Given the description of an element on the screen output the (x, y) to click on. 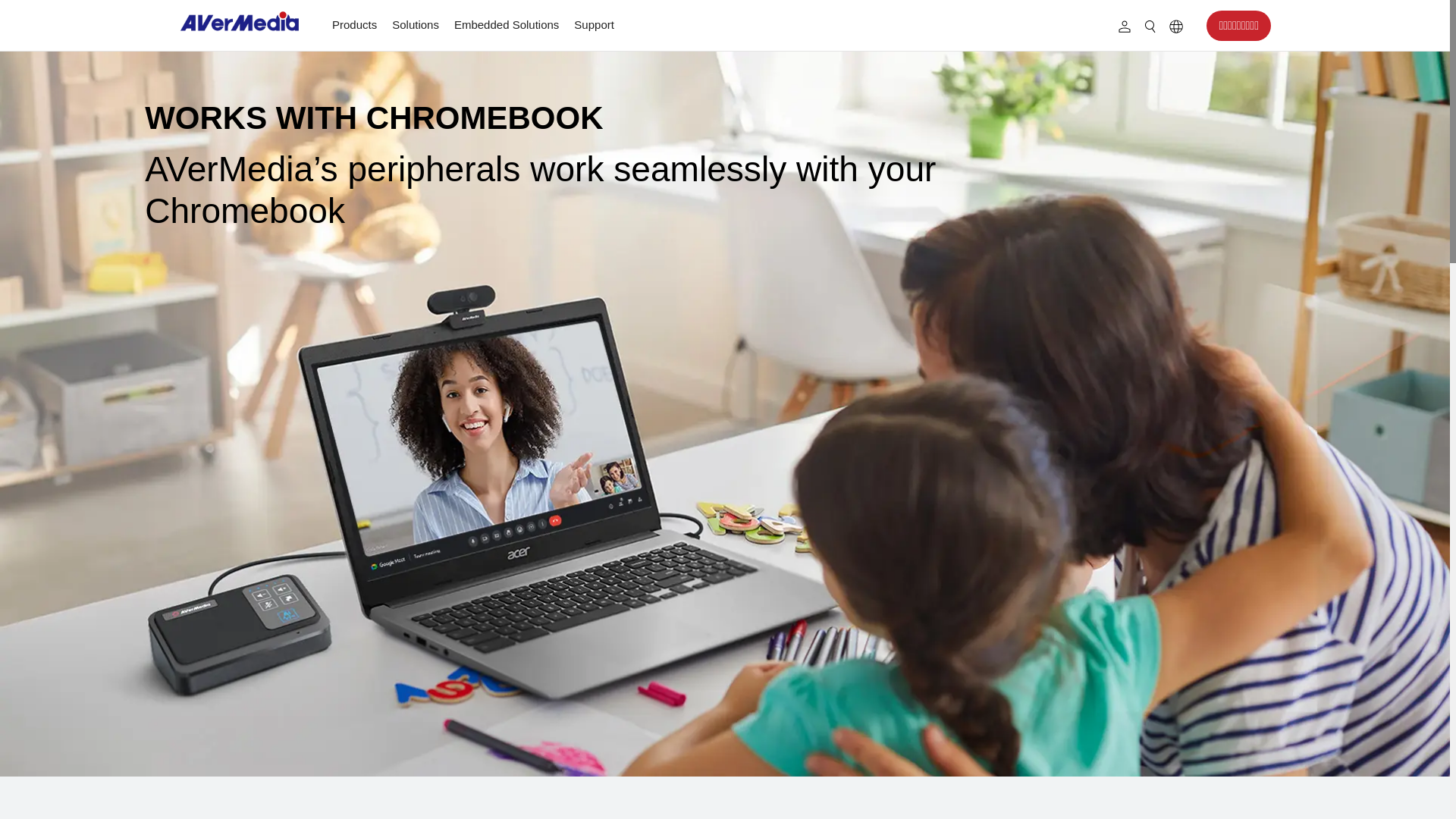
Support (593, 24)
icon-coin (1176, 26)
Products (354, 24)
Embedded Solutions (506, 24)
Solutions (415, 24)
